Given the description of an element on the screen output the (x, y) to click on. 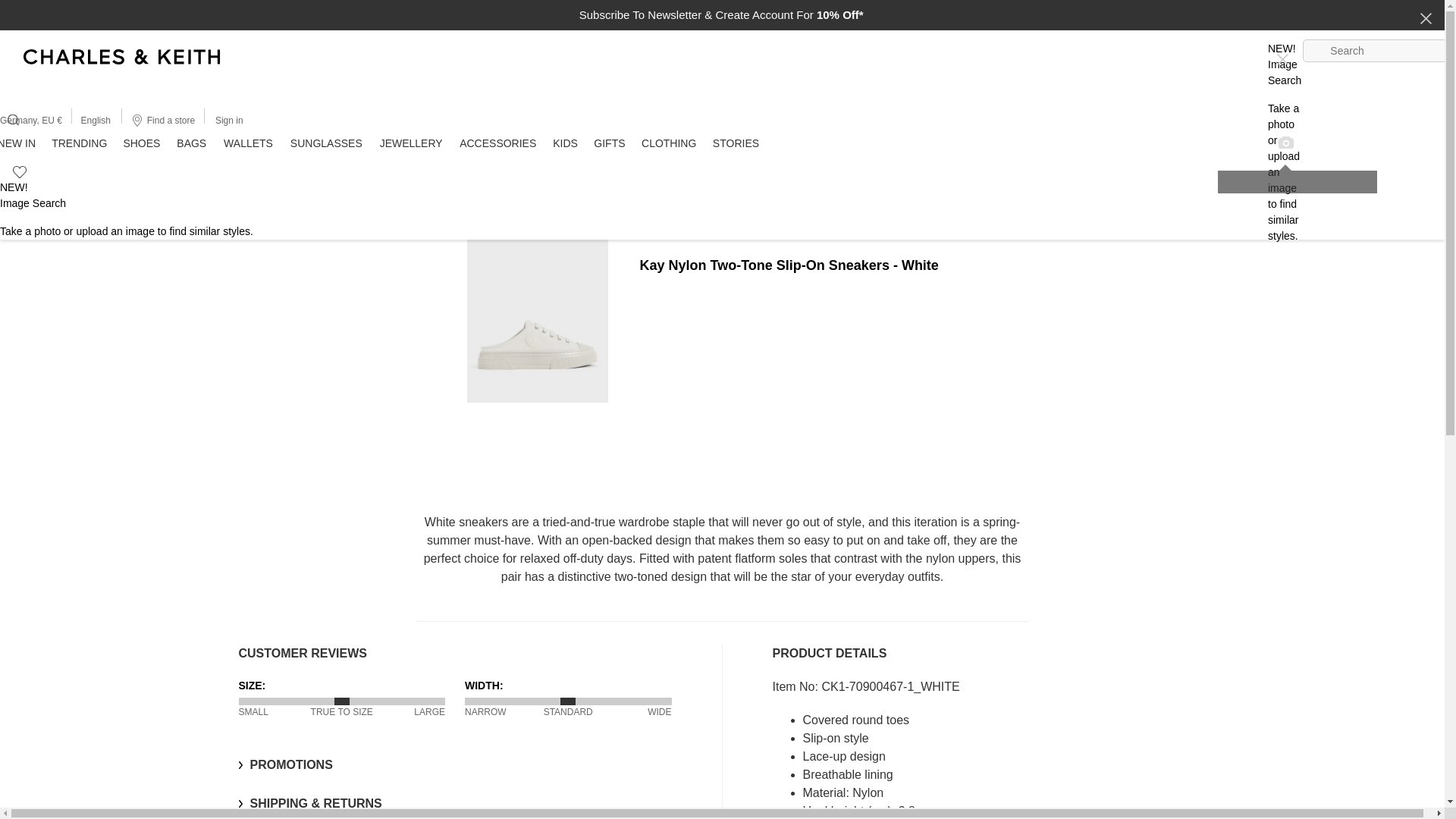
Sign in (229, 120)
TRENDING (79, 143)
WALLETS (248, 143)
SHOES (141, 143)
View Cart (21, 42)
NEW IN (21, 143)
Germany, (21, 120)
BAGS (191, 143)
wishlist (13, 169)
Find a store (163, 120)
